Given the description of an element on the screen output the (x, y) to click on. 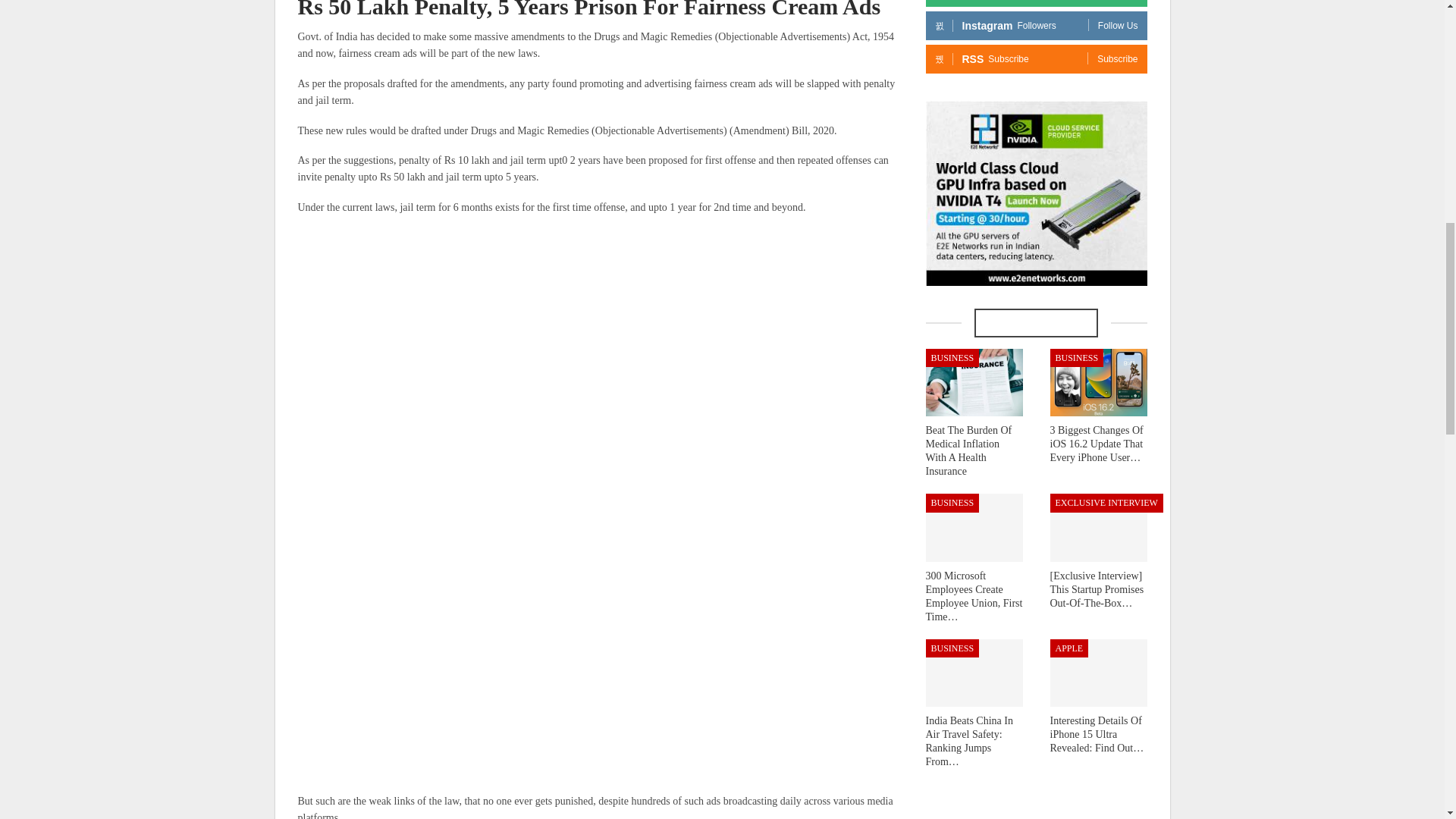
Advertisement (600, 335)
Beat The Burden Of Medical Inflation With A Health Insurance (973, 382)
